Given the description of an element on the screen output the (x, y) to click on. 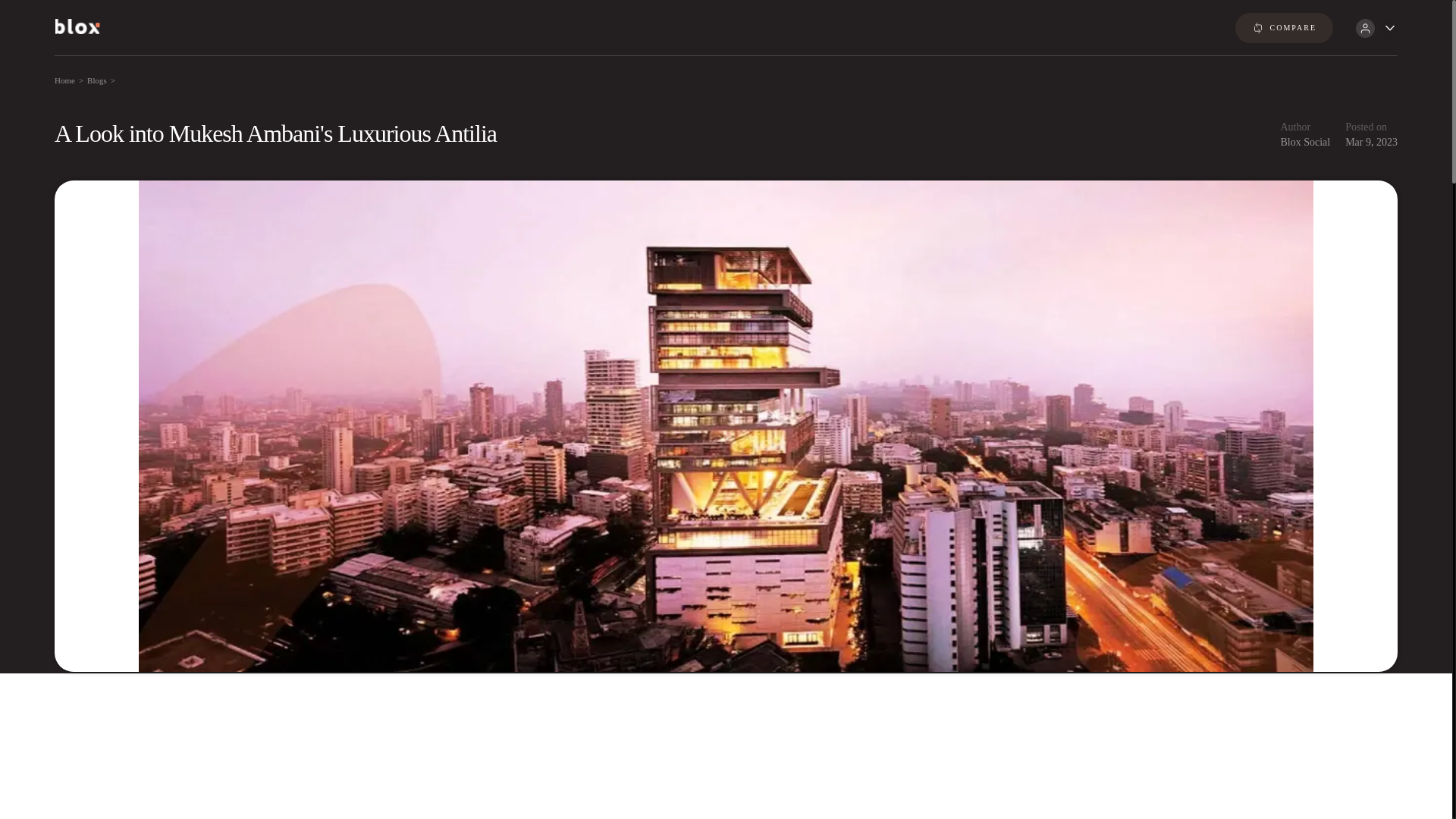
Home (65, 80)
